Given the description of an element on the screen output the (x, y) to click on. 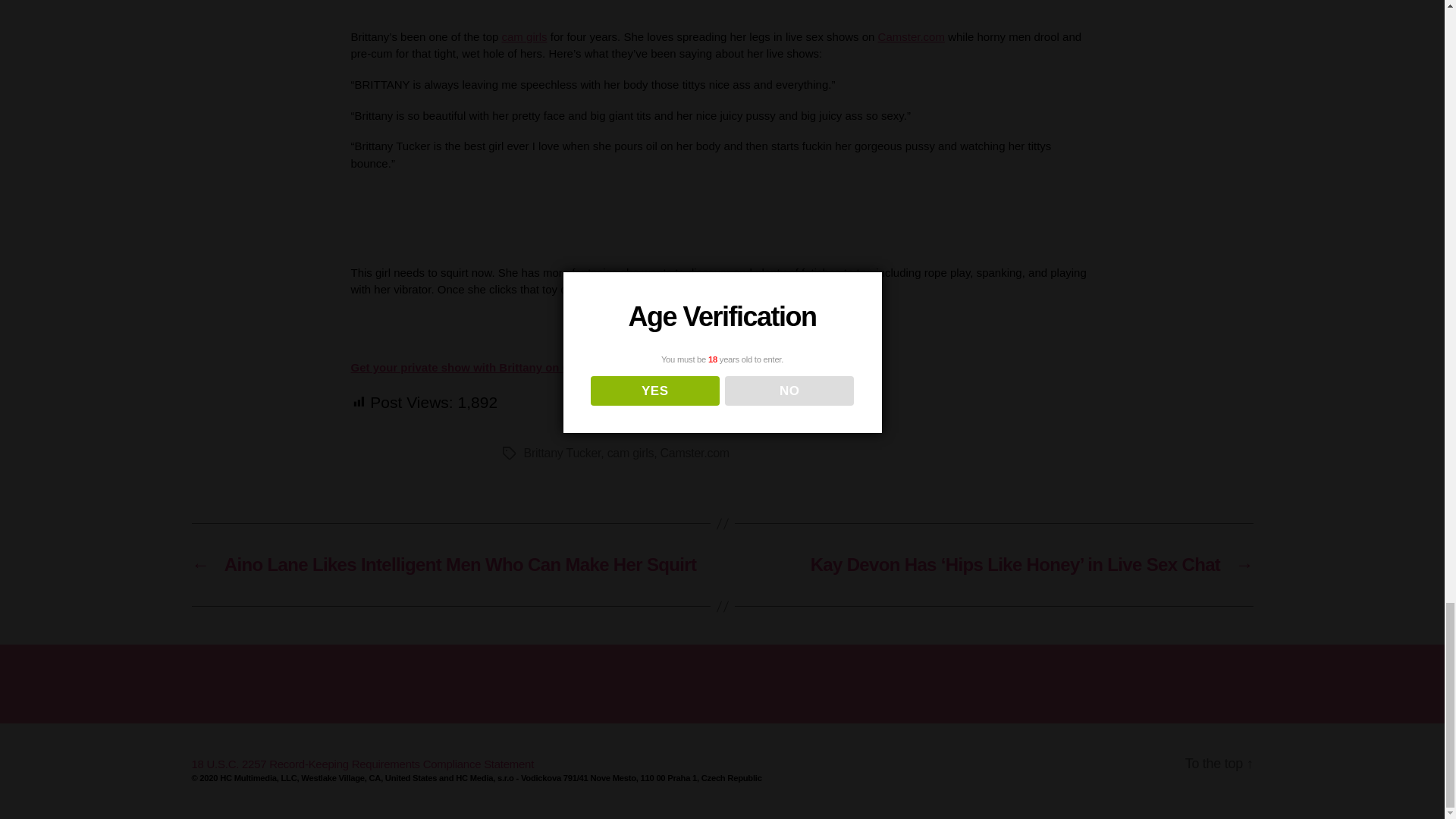
cam girls (524, 36)
Brittany Tucker (560, 452)
Get your private show with Brittany on Camster.com! (493, 367)
Camster.com (910, 36)
cam girls (630, 452)
Camster.com (695, 452)
